Given the description of an element on the screen output the (x, y) to click on. 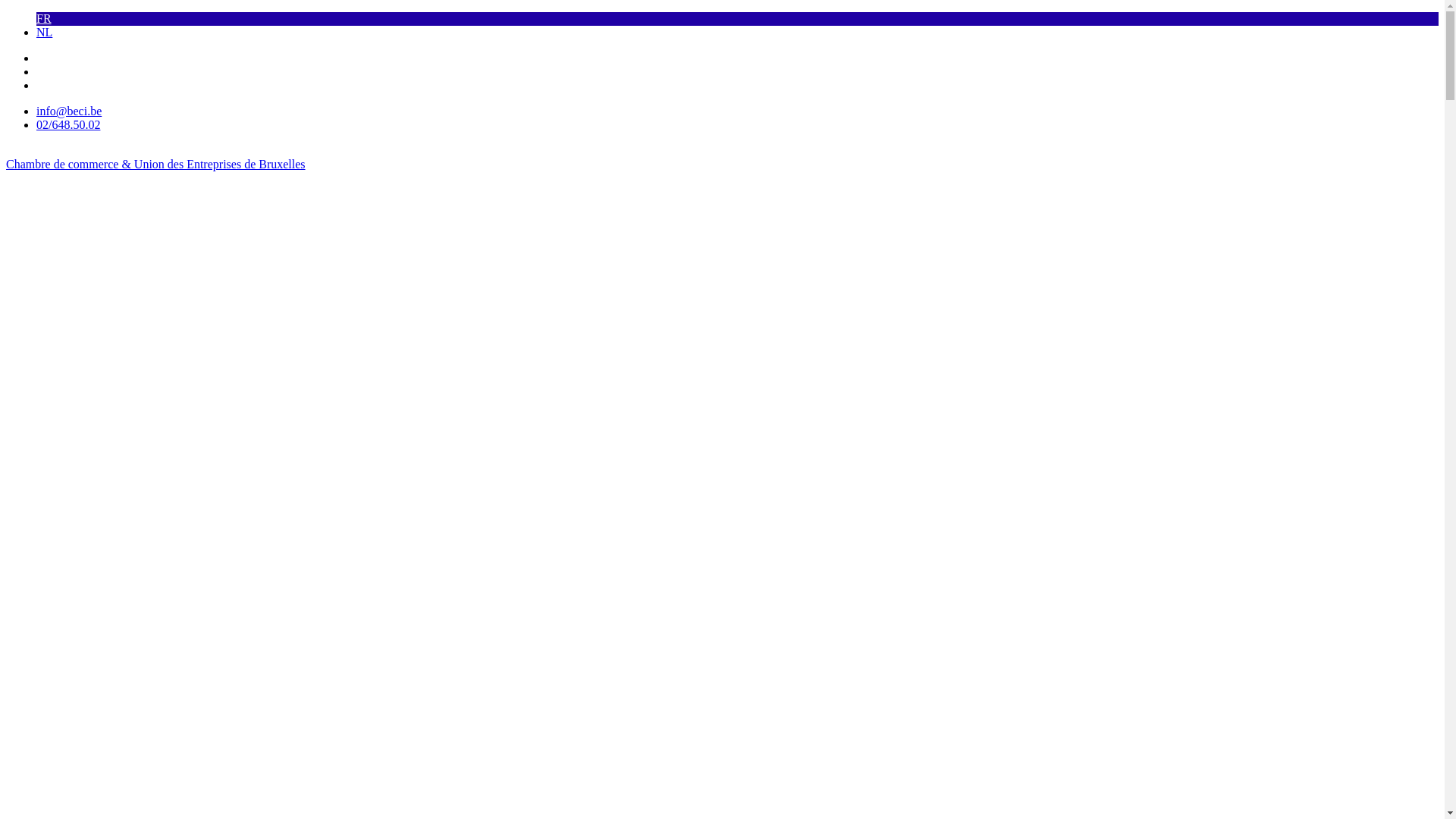
Chambre de commerce & Union des Entreprises de Bruxelles Element type: text (155, 163)
FR Element type: text (43, 18)
02/648.50.02 Element type: text (68, 124)
info@beci.be Element type: text (68, 110)
NL Element type: text (44, 31)
